Given the description of an element on the screen output the (x, y) to click on. 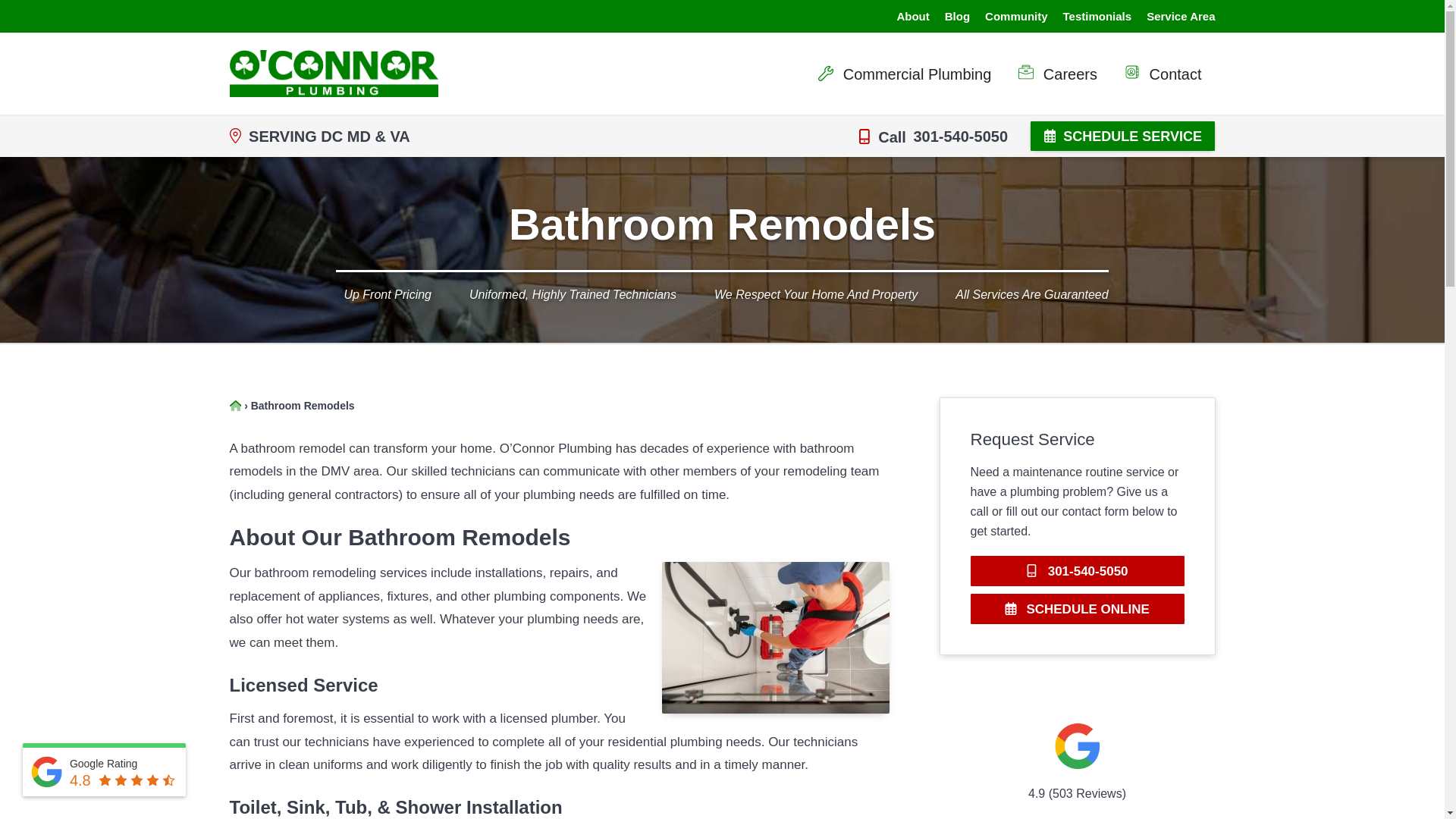
Commercial Plumbing (911, 73)
Service Area (1180, 15)
Contact (1162, 72)
Testimonials (1097, 15)
Careers (1057, 72)
Blog (956, 15)
SCHEDULE SERVICE (1122, 135)
SCHEDULE ONLINE (1078, 608)
Call 301-540-5050 (933, 136)
About (912, 15)
301-540-5050 (1078, 571)
Community (1016, 15)
